Given the description of an element on the screen output the (x, y) to click on. 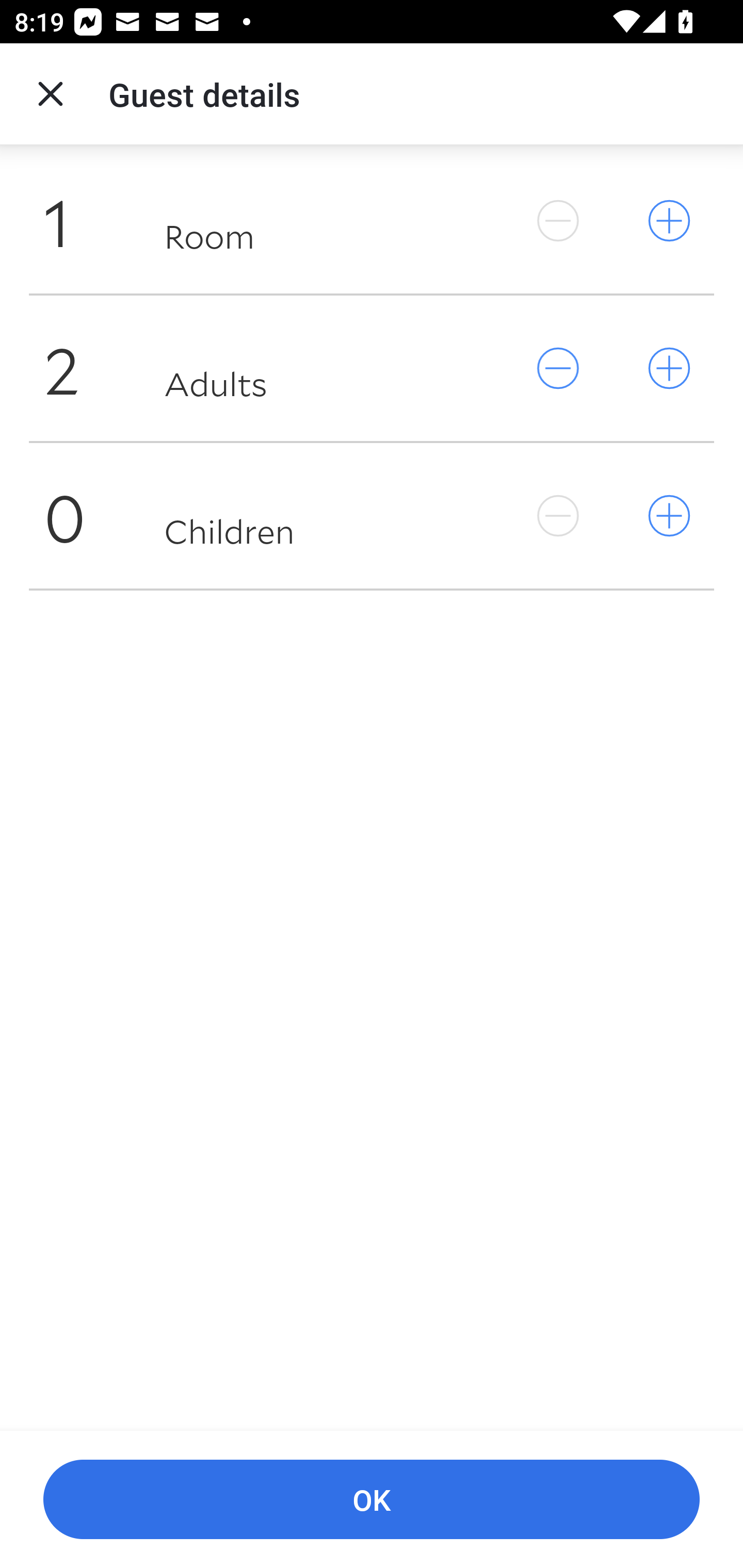
OK (371, 1499)
